Given the description of an element on the screen output the (x, y) to click on. 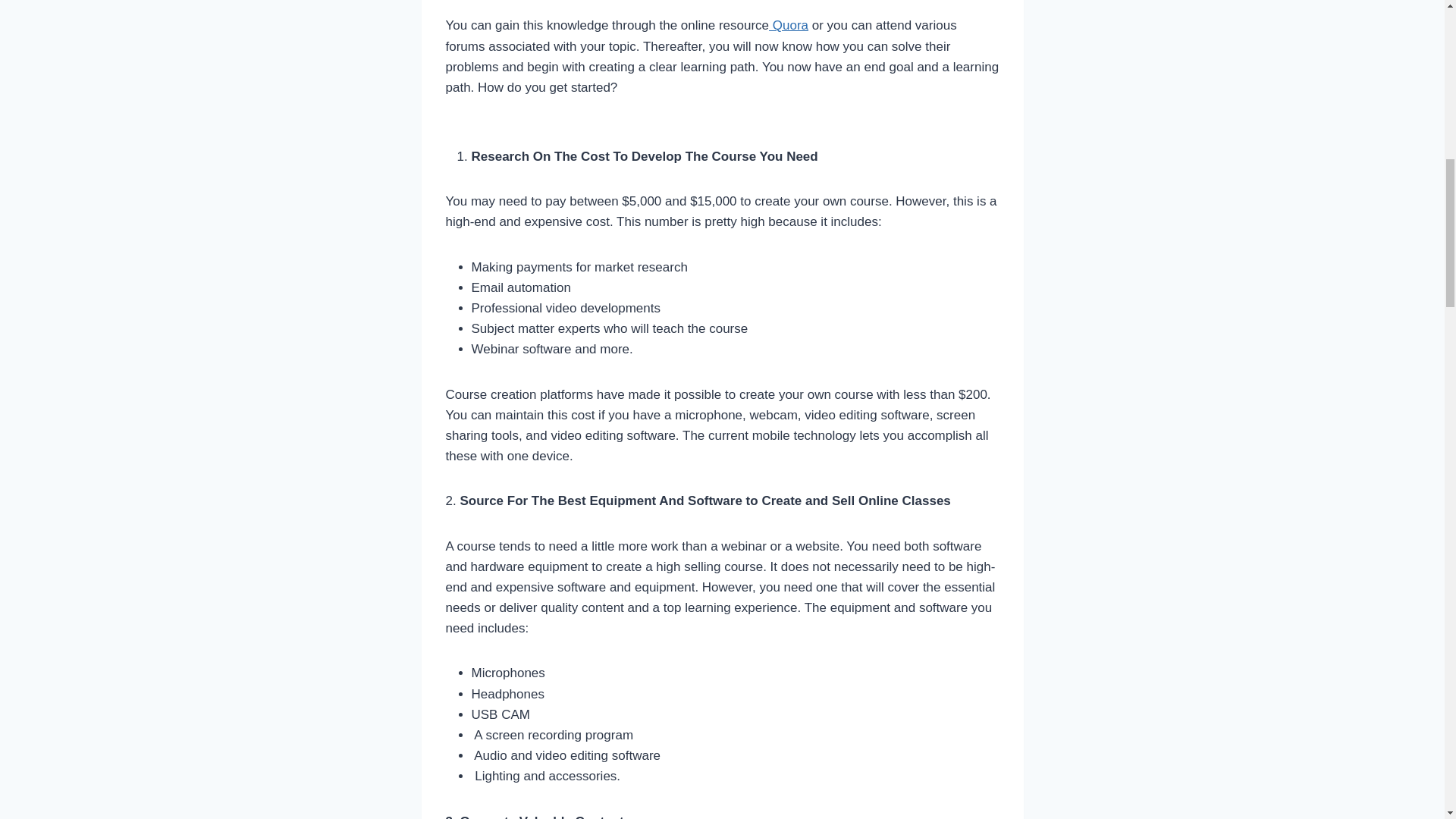
Quora (788, 25)
